Given the description of an element on the screen output the (x, y) to click on. 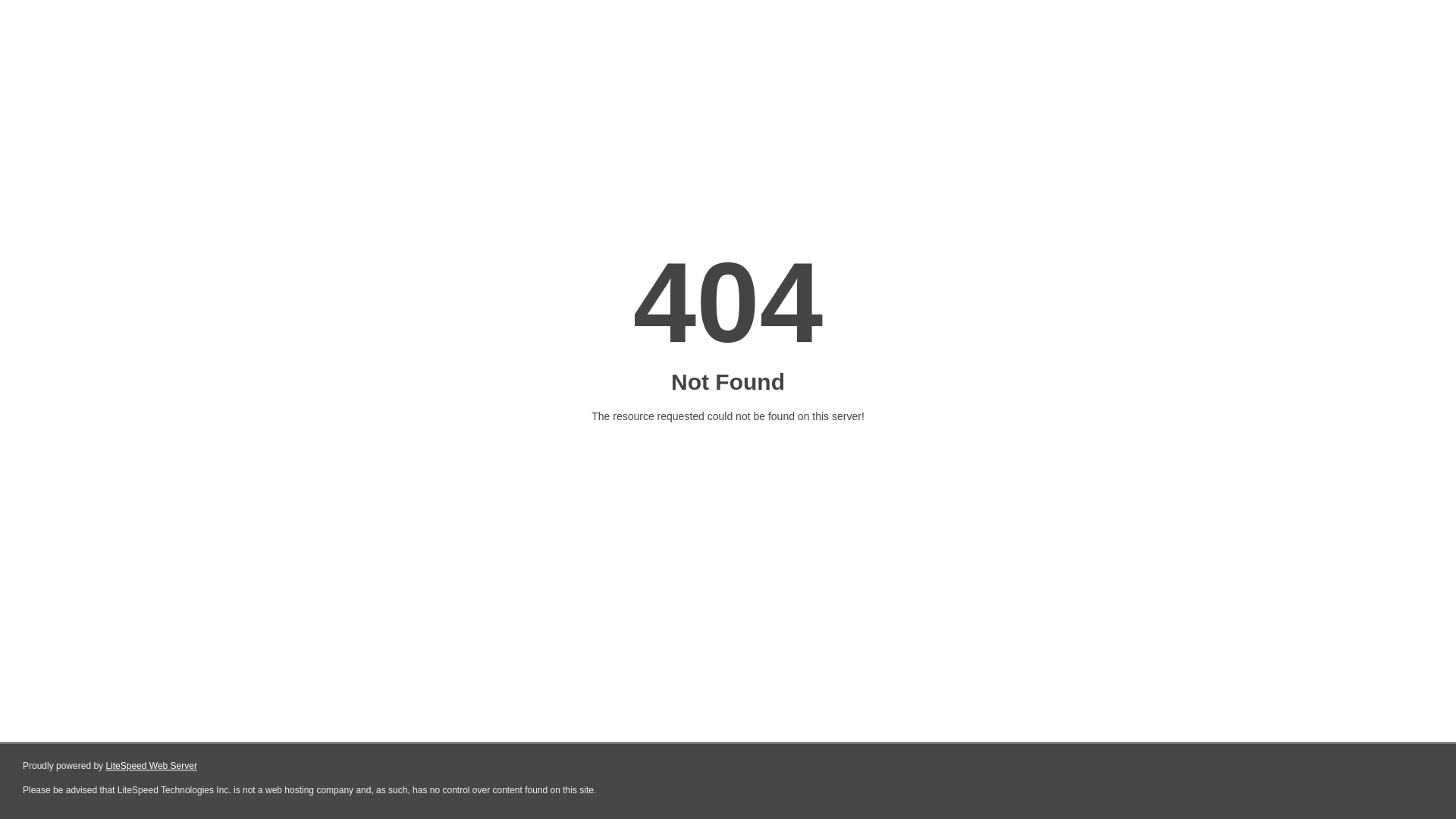
LiteSpeed Web Server Element type: text (151, 765)
